Given the description of an element on the screen output the (x, y) to click on. 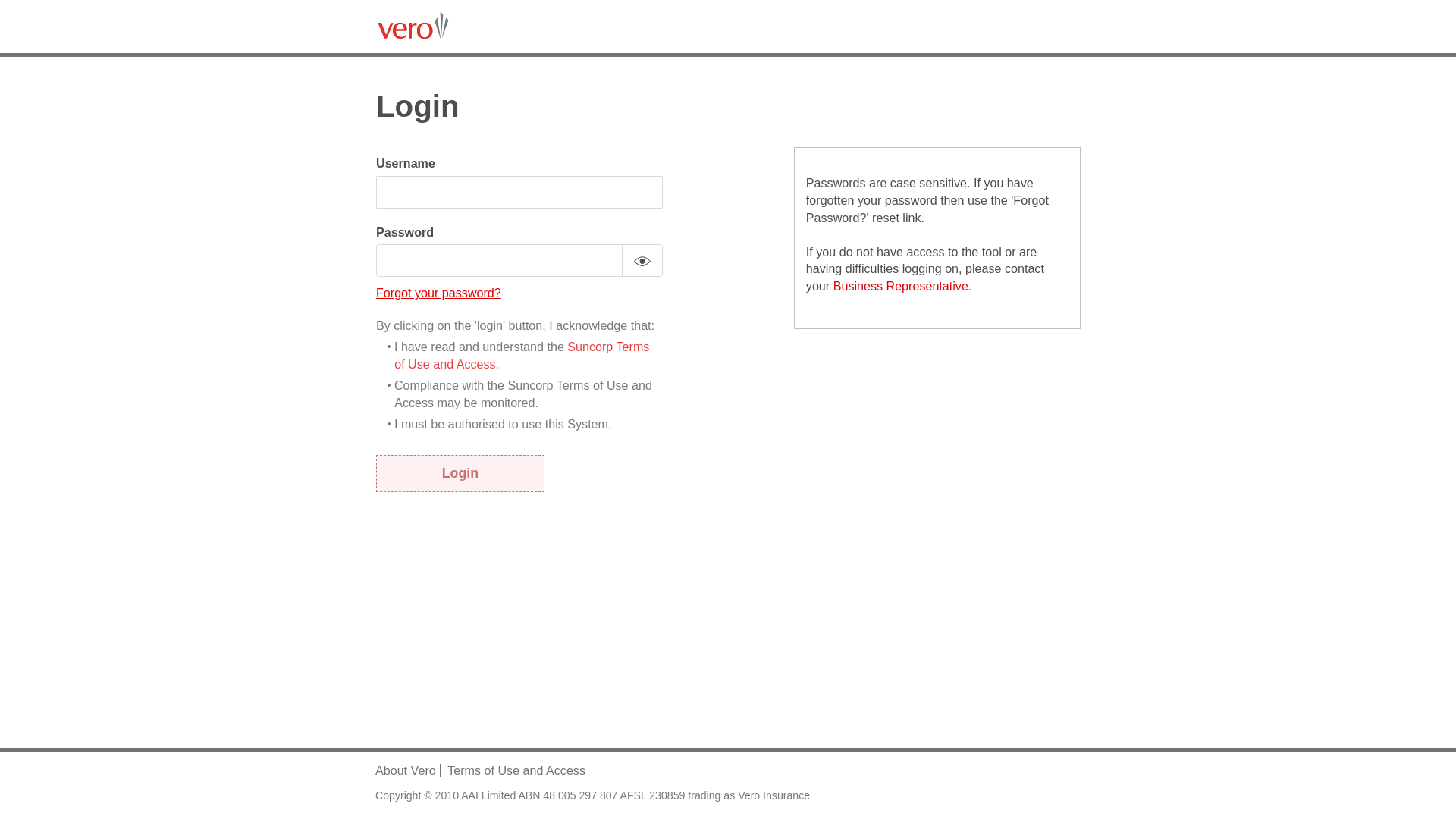
Terms of Use and Access Element type: text (516, 770)
Login Element type: text (460, 473)
Forgot your password? Element type: text (438, 292)
Suncorp Terms of Use and Access Element type: text (521, 354)
About Vero Element type: text (405, 770)
Business Representative. Element type: text (902, 285)
